Given the description of an element on the screen output the (x, y) to click on. 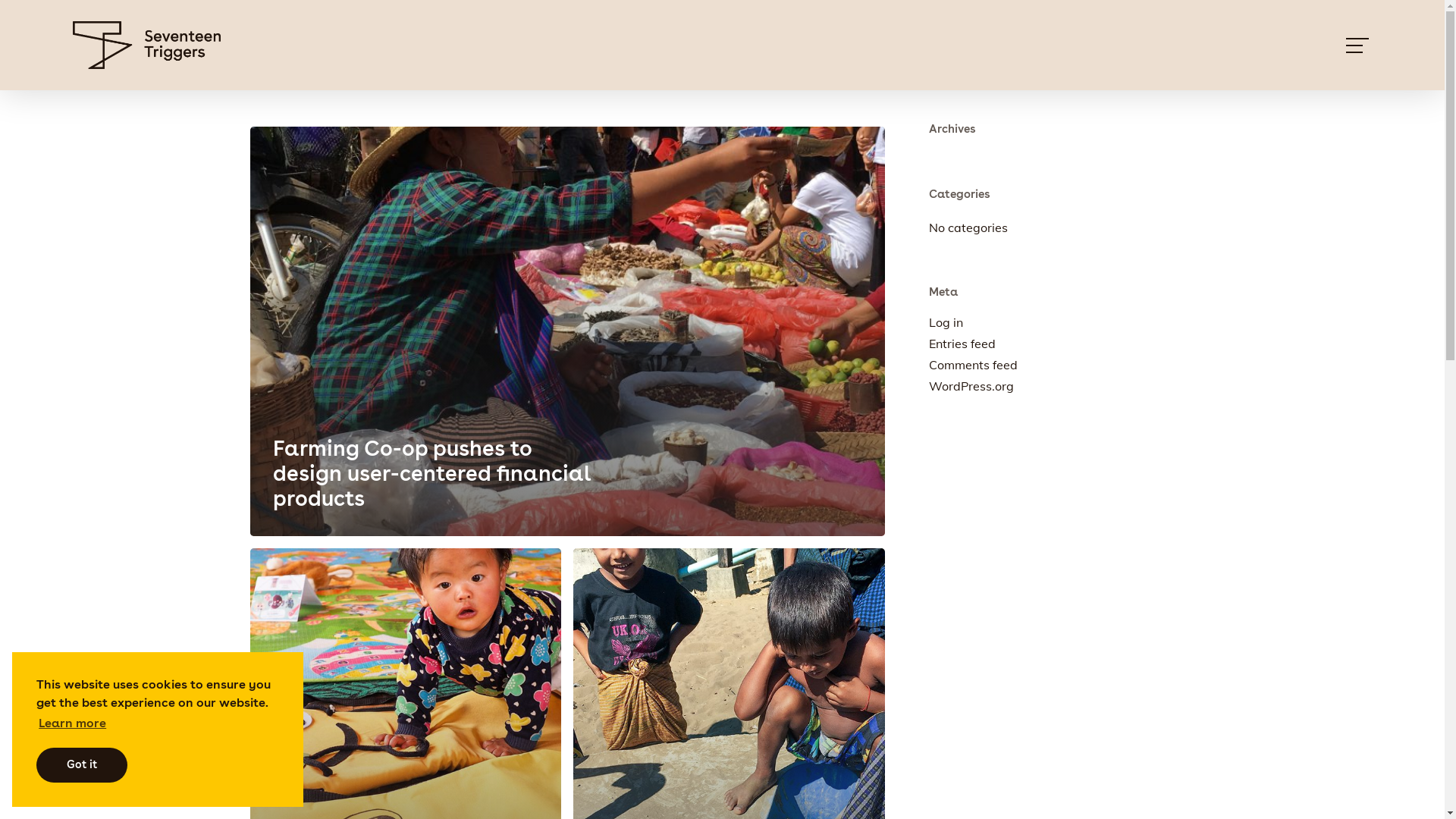
Got it Element type: text (81, 764)
Comments feed Element type: text (1058, 364)
Log in Element type: text (1058, 321)
Entries feed Element type: text (1058, 343)
Learn more Element type: text (72, 723)
WordPress.org Element type: text (1058, 385)
